Given the description of an element on the screen output the (x, y) to click on. 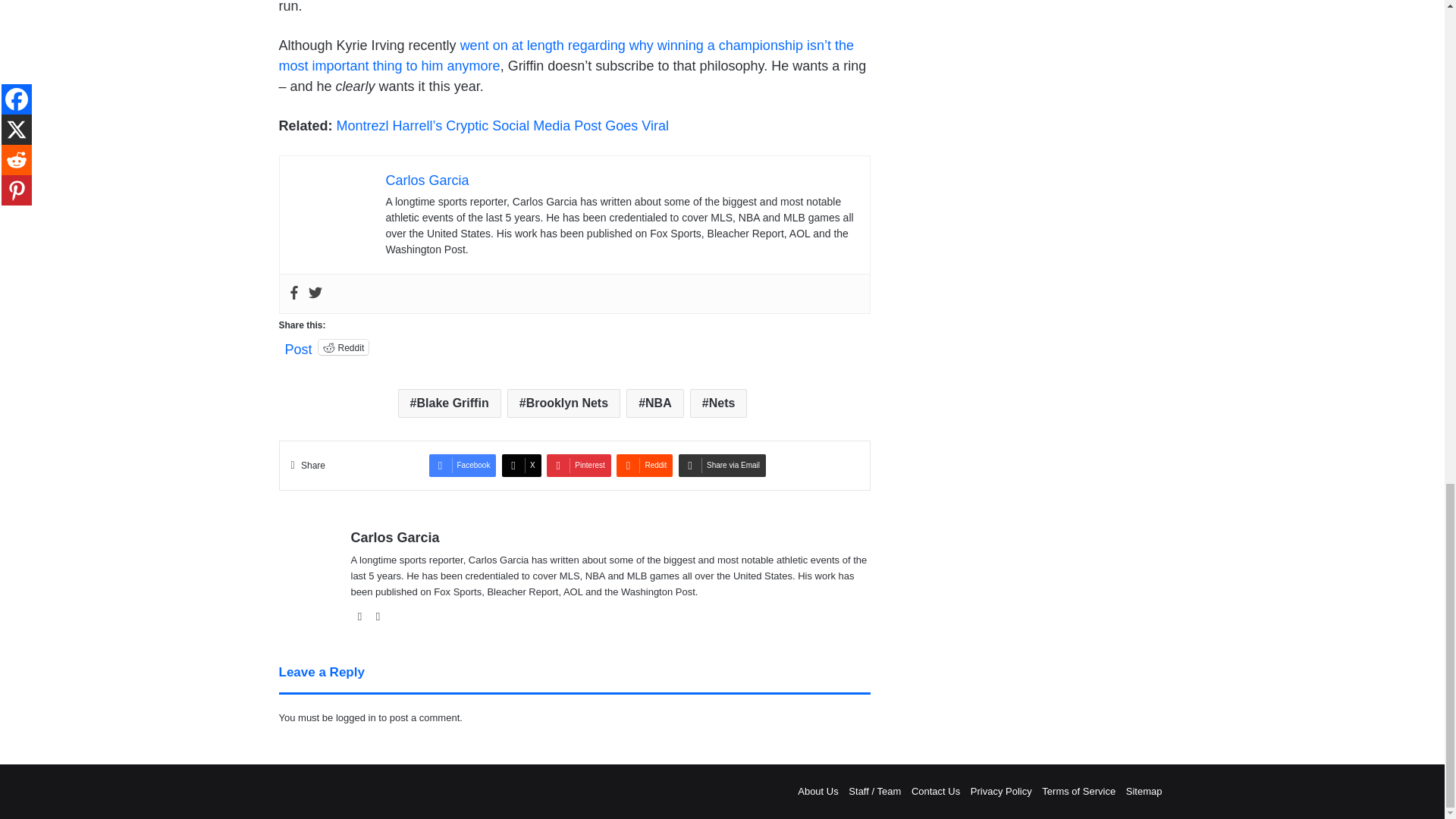
Facebook (292, 293)
Post (299, 345)
Carlos Garcia (426, 180)
Reddit (343, 346)
